Given the description of an element on the screen output the (x, y) to click on. 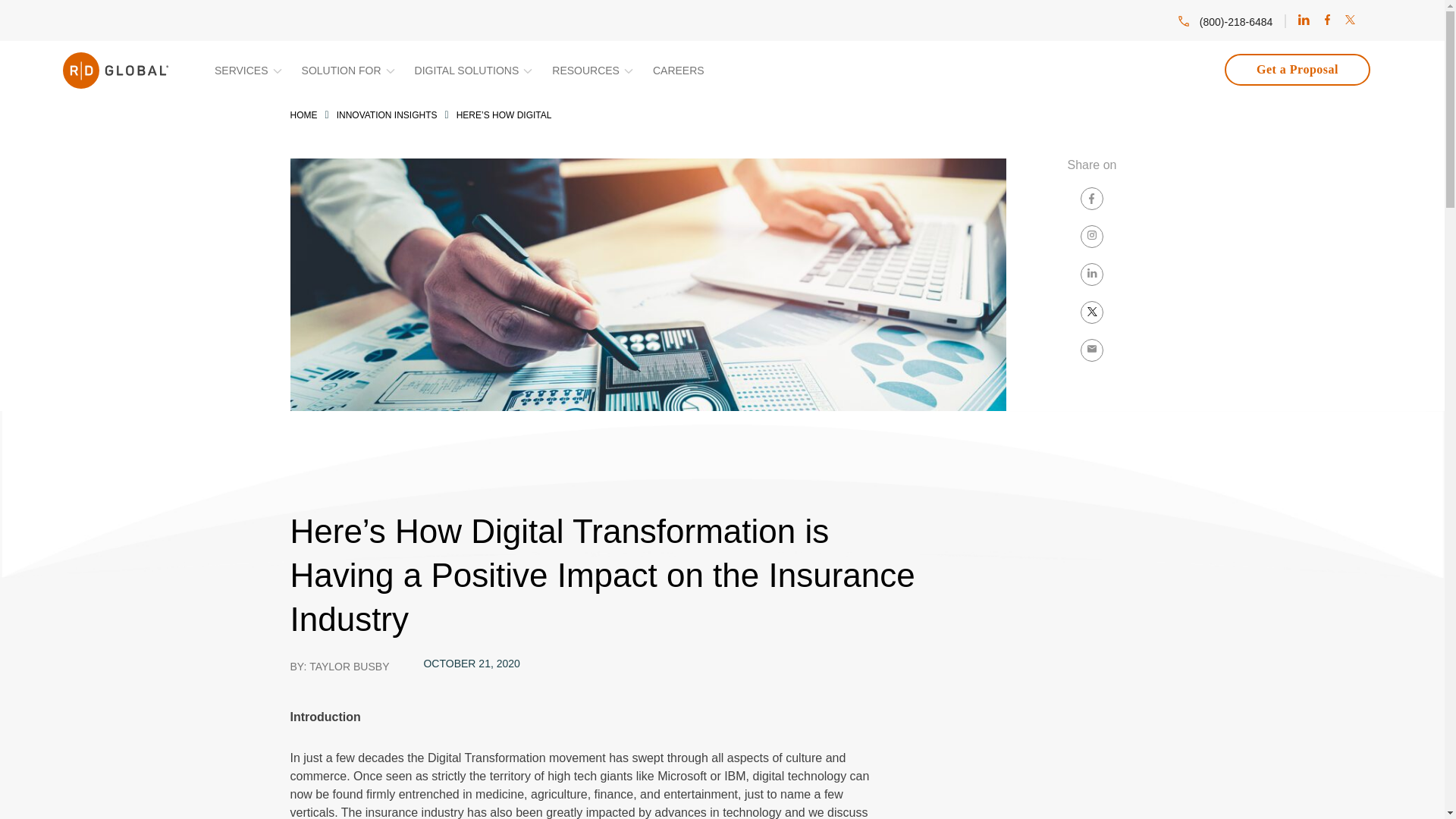
SOLUTION FOR (348, 70)
HOME (303, 114)
SERVICES (248, 70)
CAREERS (685, 70)
RESOURCES (592, 70)
INNOVATION INSIGHTS (387, 114)
Get a Proposal (1297, 69)
DIGITAL SOLUTIONS (474, 70)
